Given the description of an element on the screen output the (x, y) to click on. 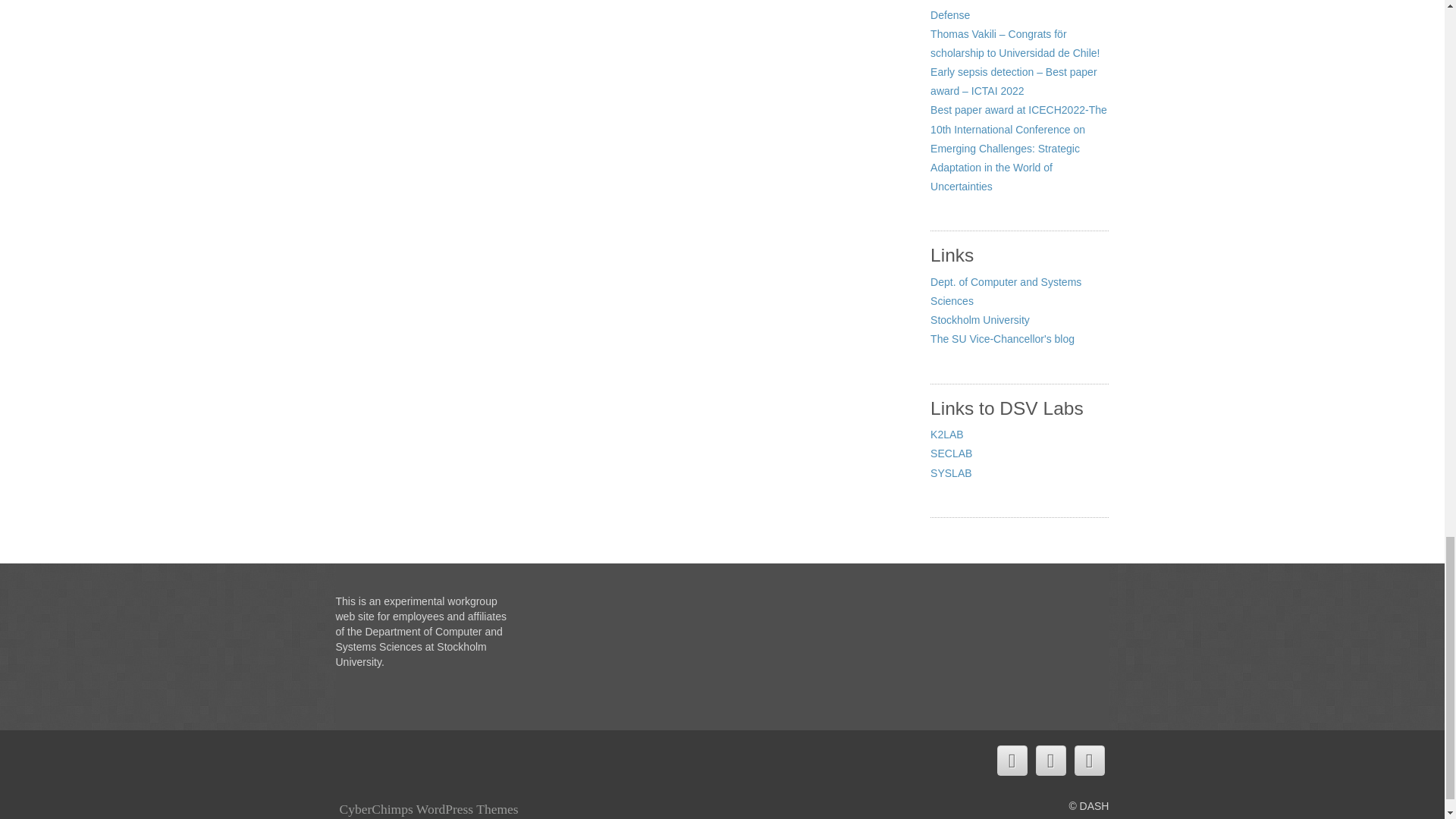
DASH Googleplus (1088, 760)
DASH Twitter (1010, 760)
DASH Facebook (1050, 760)
